Given the description of an element on the screen output the (x, y) to click on. 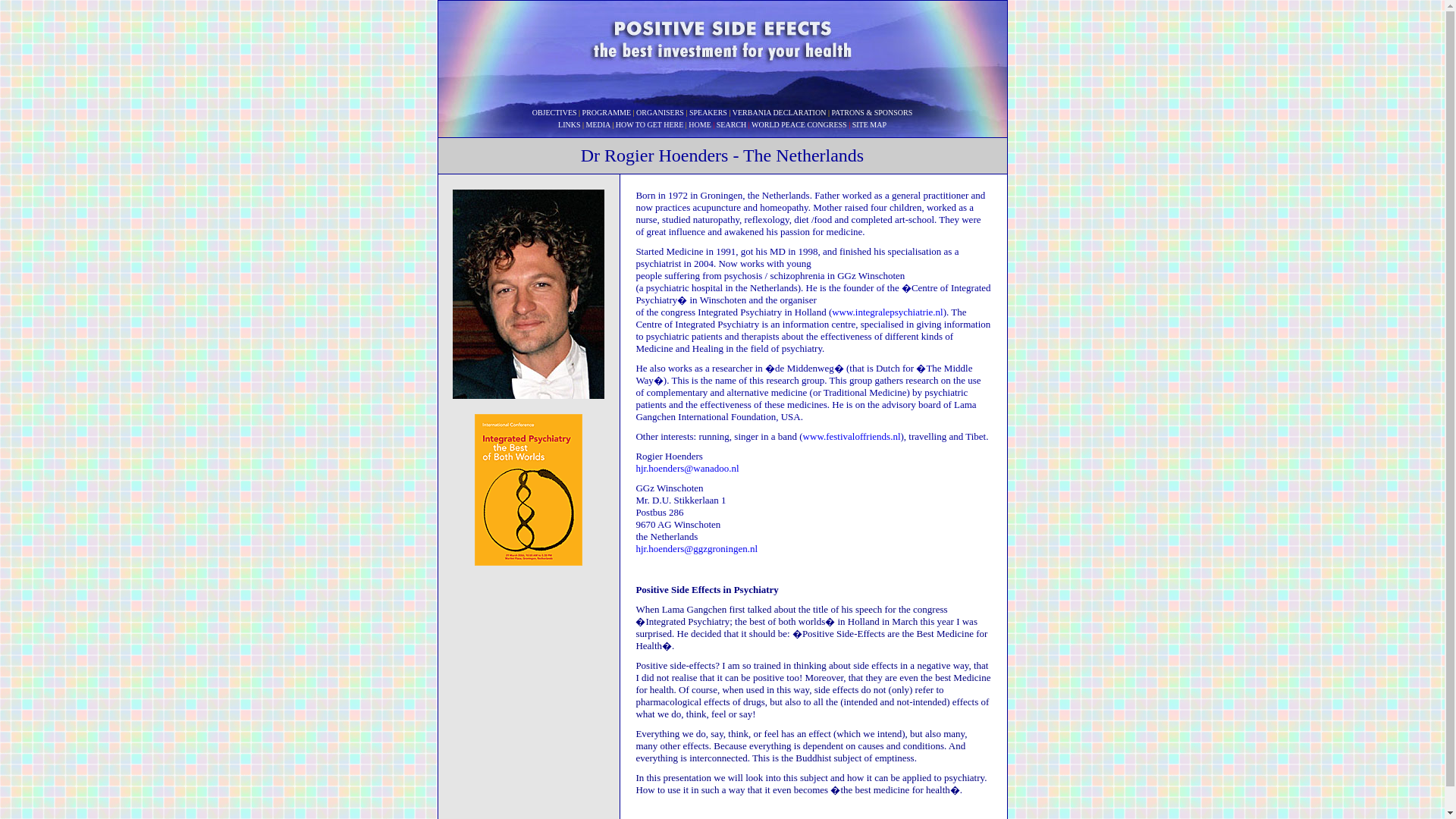
PROGRAMME (606, 111)
ORGANISERS (660, 111)
SITE MAP (868, 123)
WORLD PEACE CONGRESS (799, 123)
HOW TO GET HERE (649, 123)
www.integralepsychiatrie.nl (886, 311)
VERBANIA DECLARATION (779, 111)
www.festivaloffriends.nl (852, 436)
SEARCH (730, 123)
MEDIA (597, 123)
HOME (699, 123)
OBJECTIVES (554, 111)
SPEAKERS (707, 111)
LINKS (568, 123)
